Given the description of an element on the screen output the (x, y) to click on. 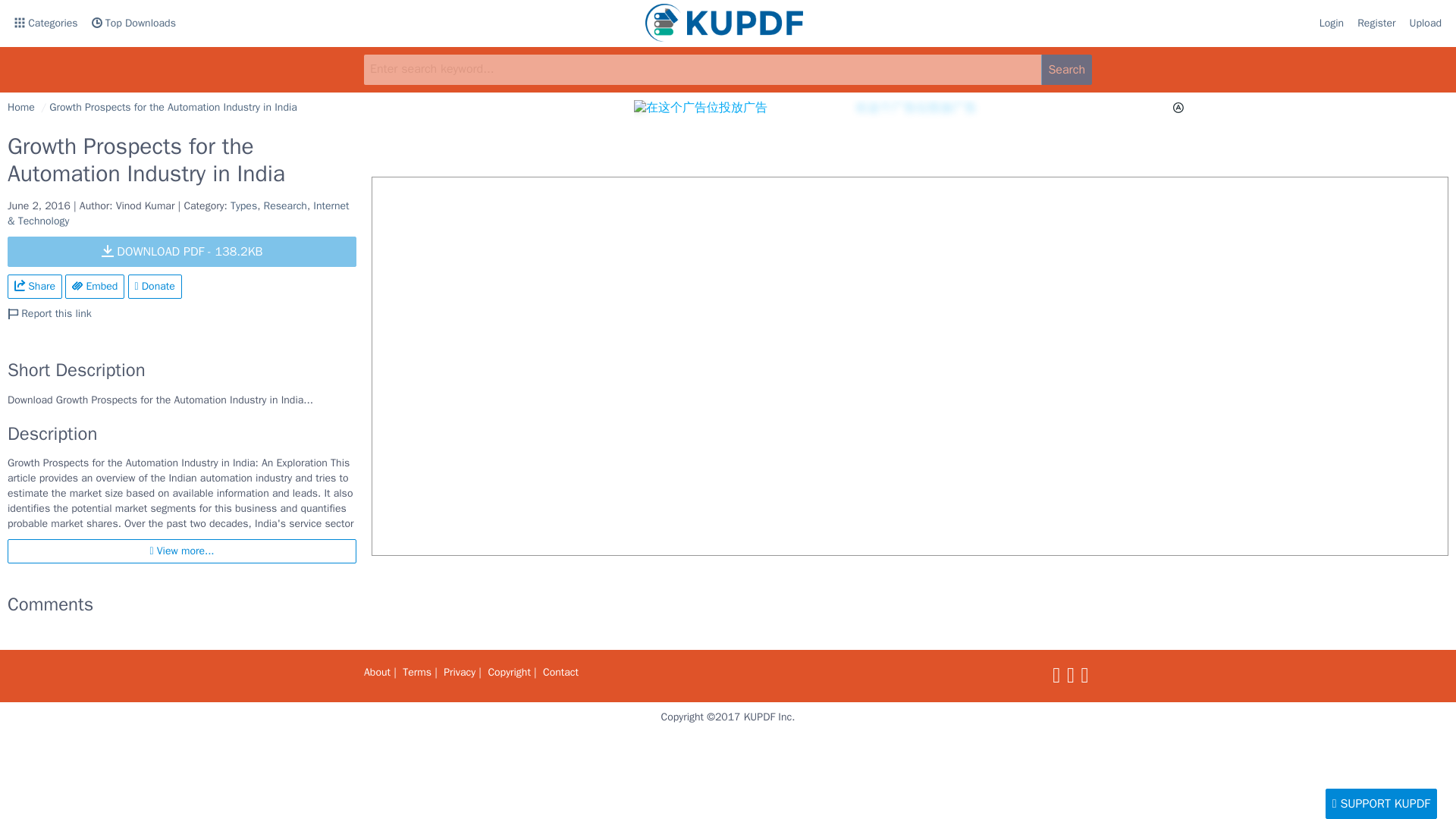
Home (20, 106)
Share (34, 286)
Embed (94, 286)
Register (1376, 23)
Upload (1425, 23)
Terms (416, 671)
Search (1066, 69)
About (377, 671)
Contact (560, 671)
Growth Prospects for the Automation Industry in India (173, 106)
Copyright (508, 671)
Privacy (460, 671)
Research (285, 205)
DOWNLOAD PDF - 138.2KB (181, 251)
Categories (45, 23)
